Given the description of an element on the screen output the (x, y) to click on. 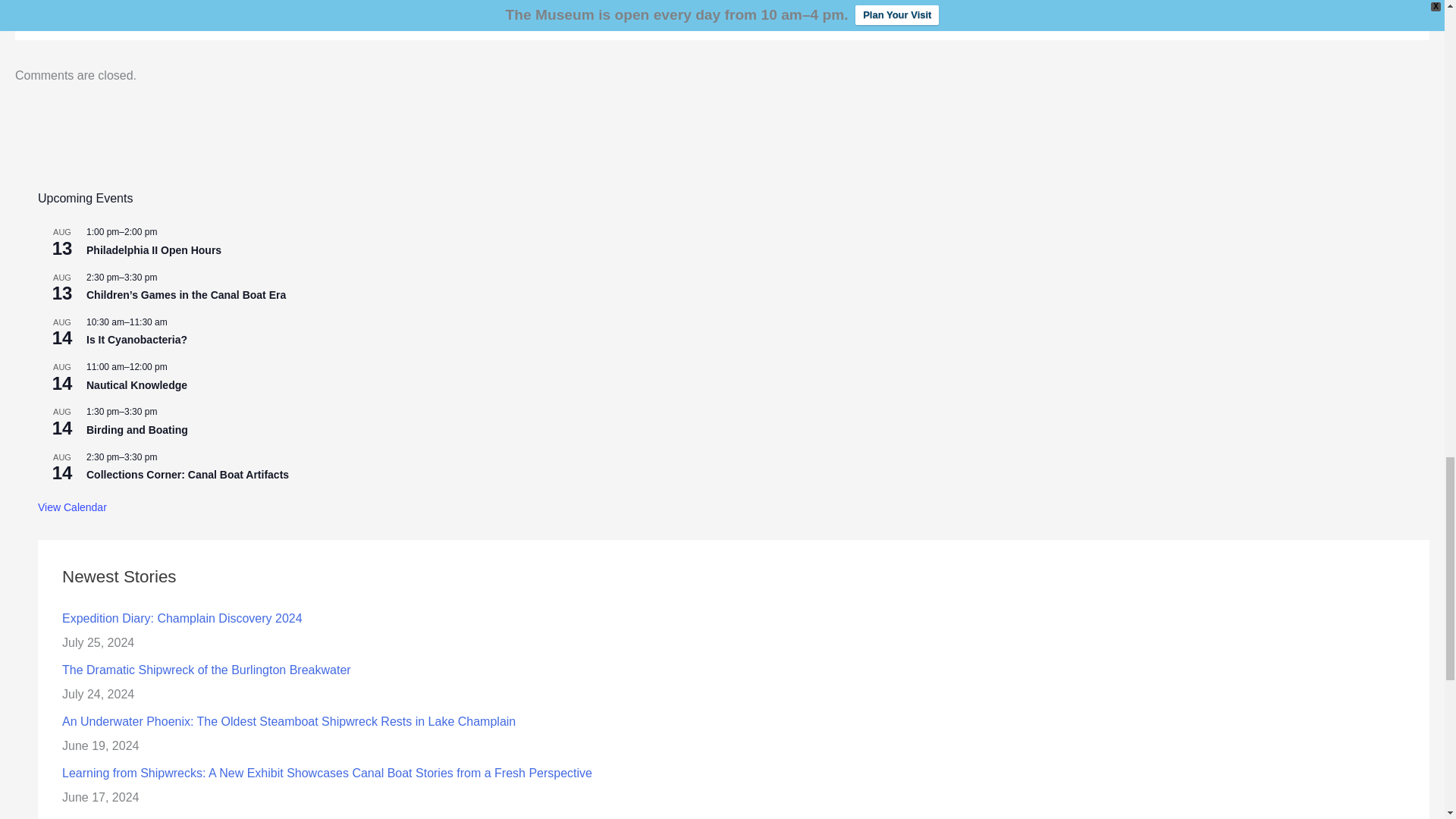
Collections Corner: Canal Boat Artifacts (186, 474)
Birding and Boating (136, 430)
Philadelphia II Open Hours (153, 250)
Is It Cyanobacteria? (136, 339)
View more events. (71, 507)
Nautical Knowledge (136, 385)
